Given the description of an element on the screen output the (x, y) to click on. 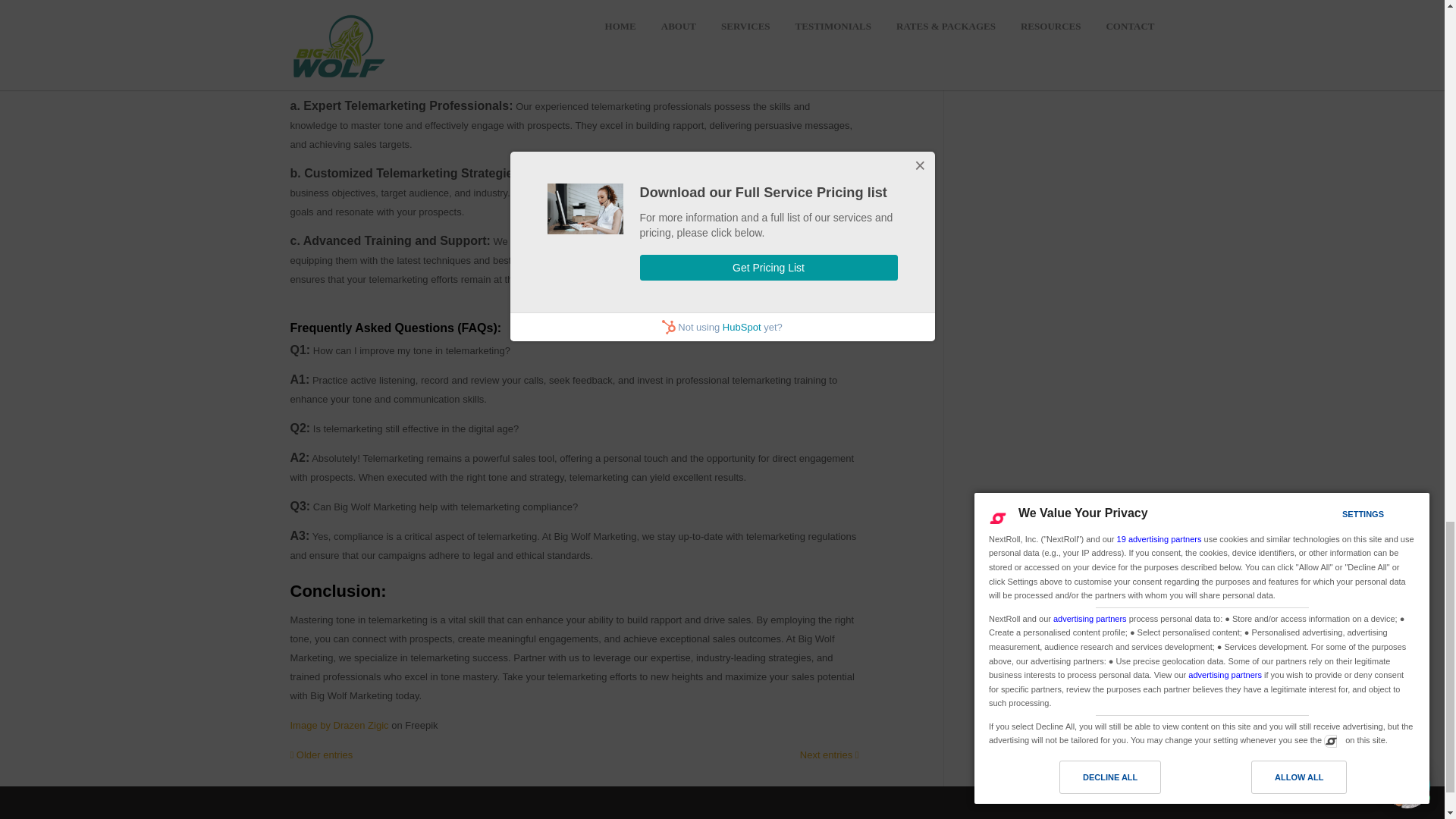
Older entries (320, 754)
Next entries (829, 754)
Image by Drazen Zigic (338, 725)
